Given the description of an element on the screen output the (x, y) to click on. 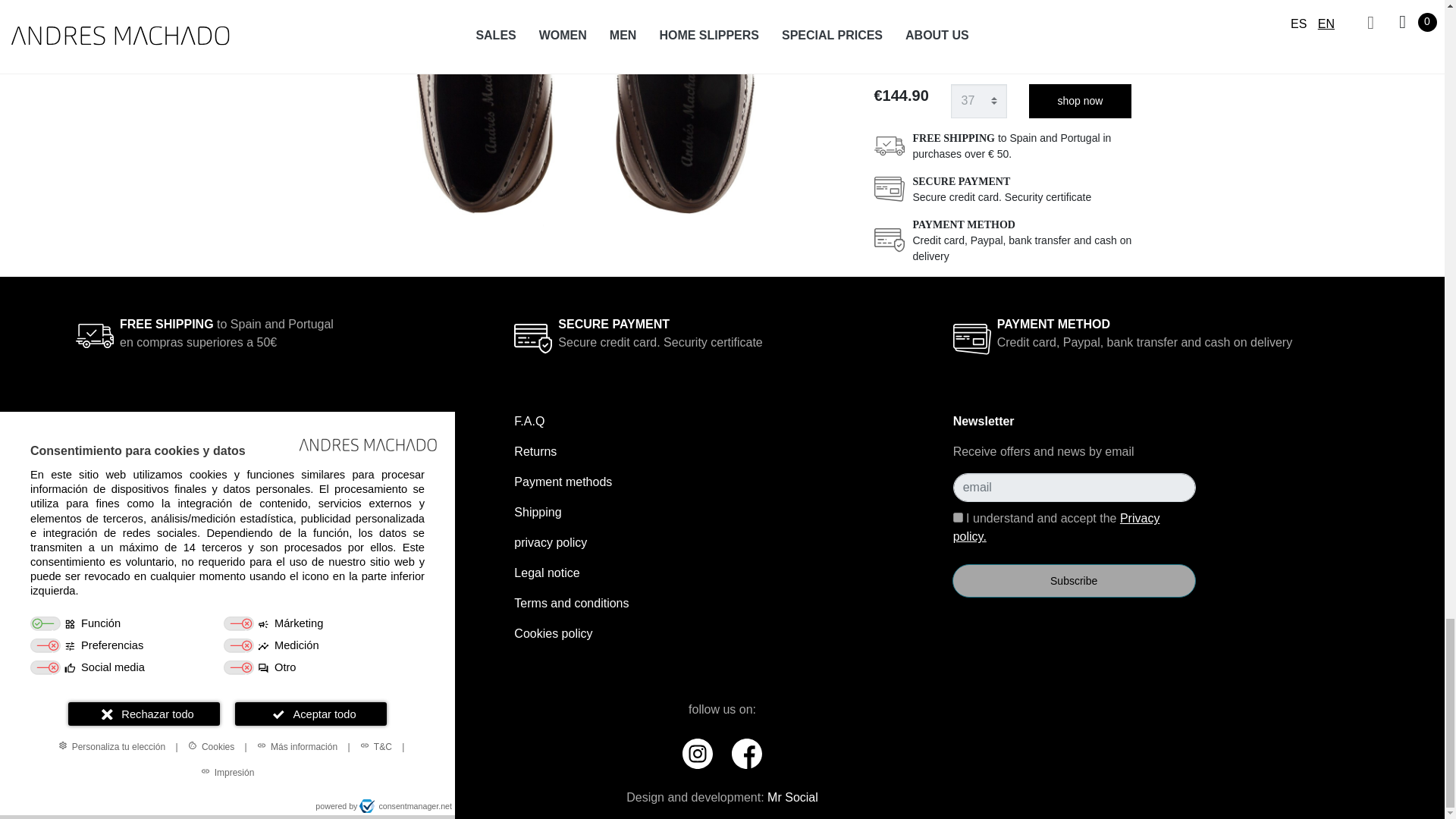
on (957, 517)
Oxford style Shoes in Brown Leather (581, 120)
